Given the description of an element on the screen output the (x, y) to click on. 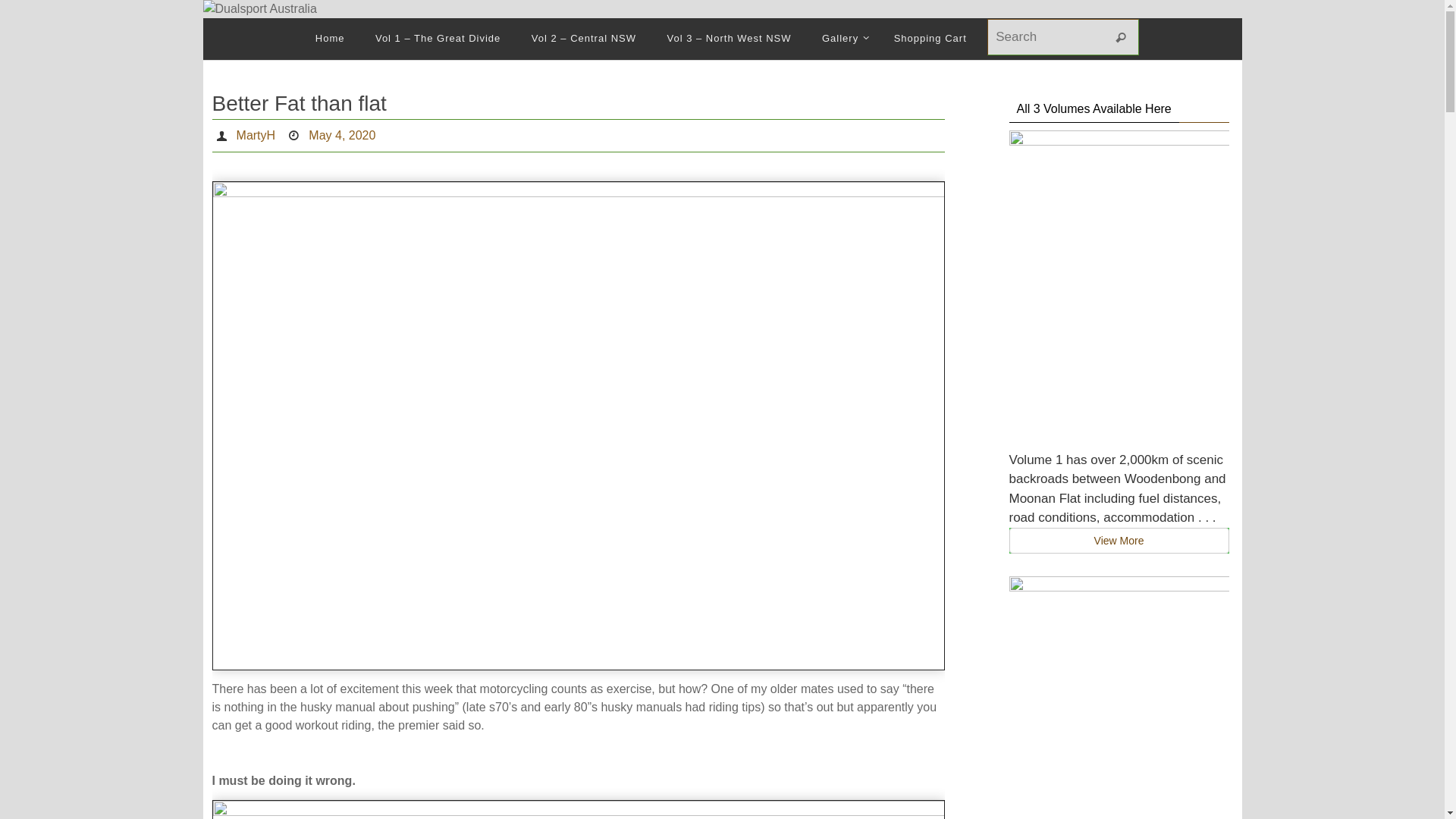
Gallery Element type: text (842, 38)
View More Element type: text (1118, 540)
Dualsport Australia Element type: hover (722, 9)
Author  Element type: hover (224, 134)
Shopping Cart Element type: text (930, 38)
May 4, 2020 Element type: text (341, 135)
MartyH Element type: text (256, 135)
Date Element type: hover (295, 134)
Search Element type: text (1120, 37)
Skip to content Element type: text (201, 41)
Home Element type: text (329, 38)
